Given the description of an element on the screen output the (x, y) to click on. 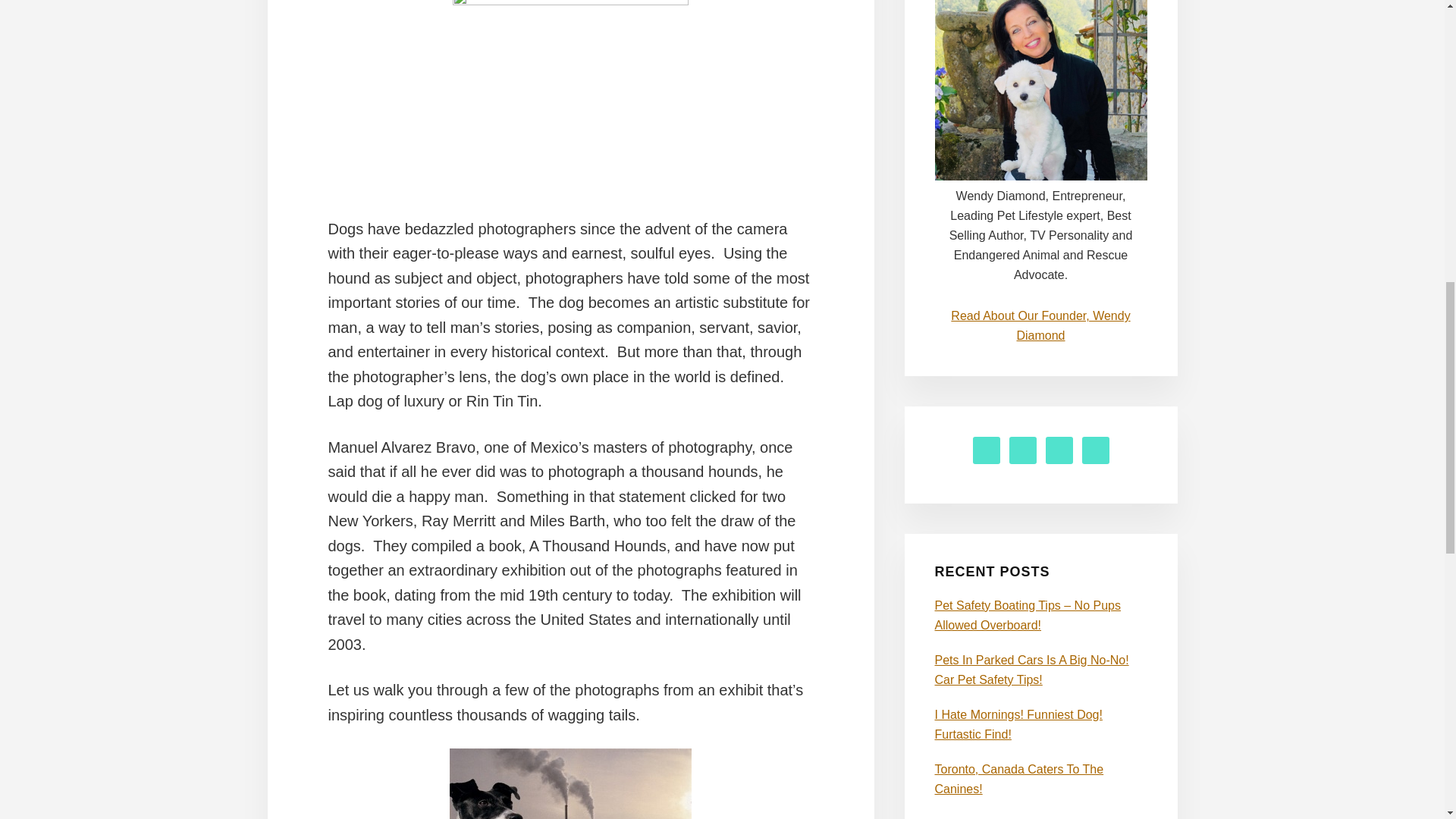
thousand hounds (570, 74)
thousand hounds  (570, 783)
